Given the description of an element on the screen output the (x, y) to click on. 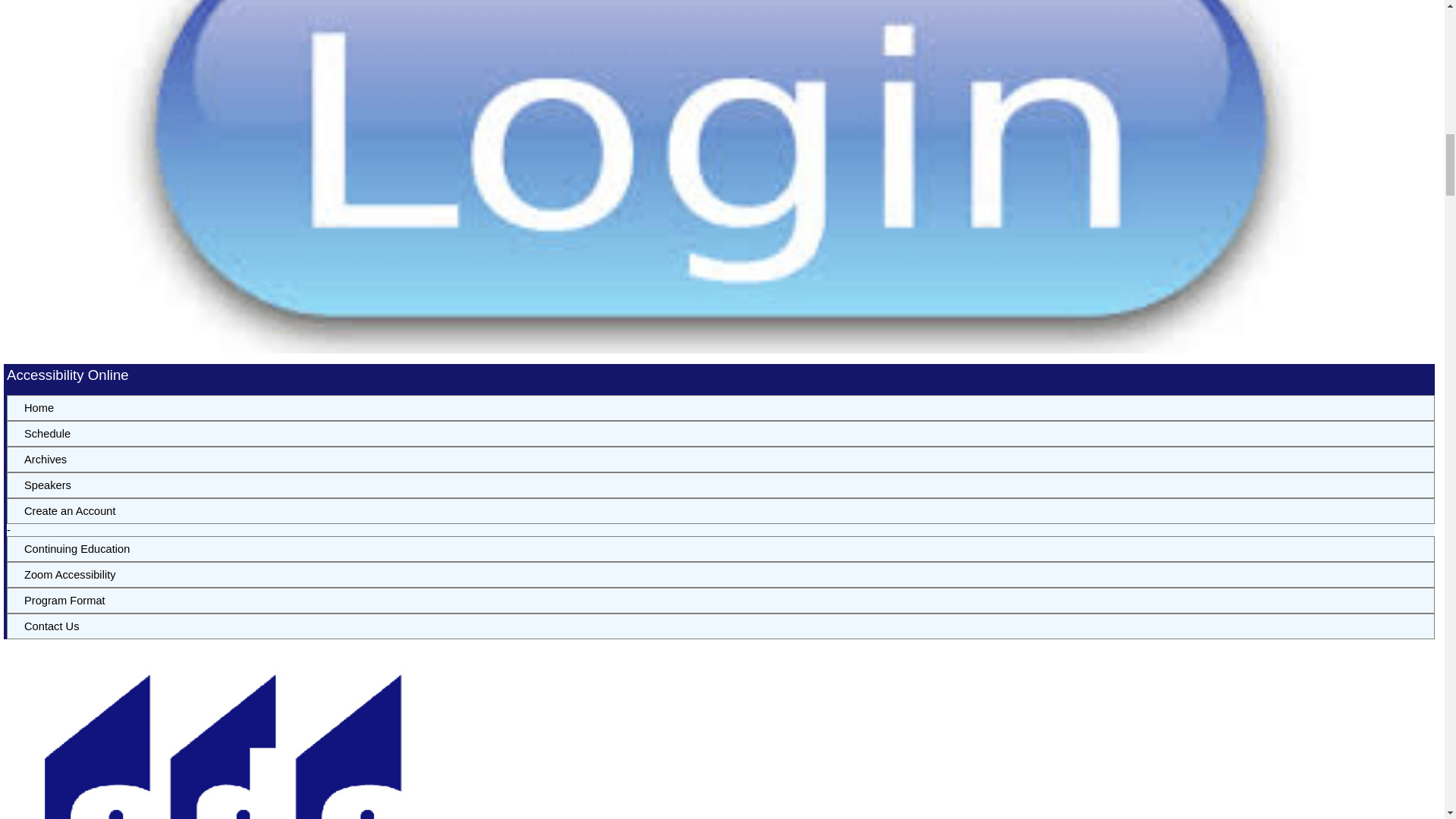
Program Format (720, 600)
Continuing Education (720, 549)
Home (720, 407)
Contact Us (720, 626)
Archives (720, 459)
Speakers (720, 485)
Schedule (720, 433)
Zoom Accessibility (720, 574)
Create an Account (720, 510)
